Given the description of an element on the screen output the (x, y) to click on. 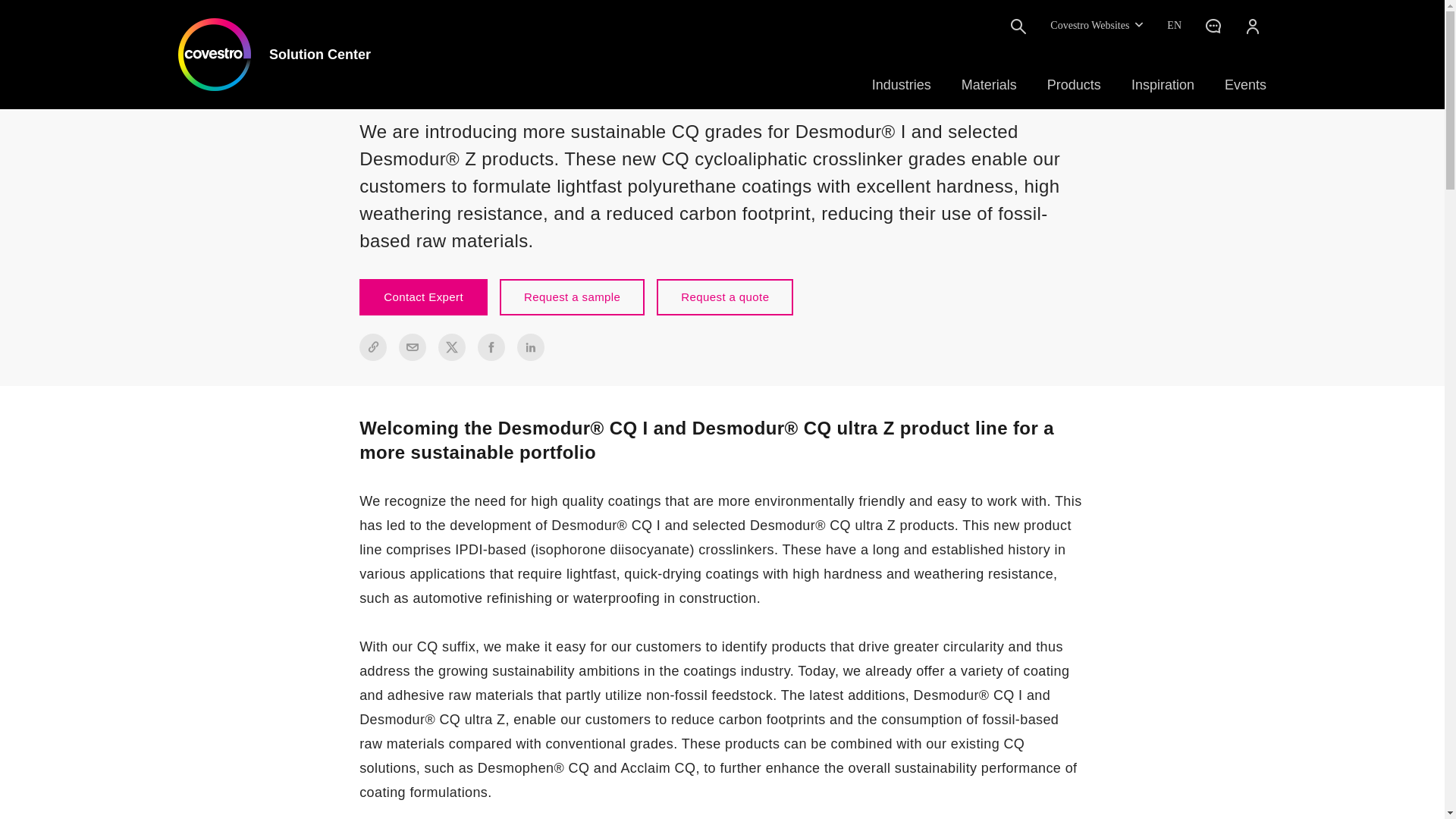
Industries (901, 85)
Materials (988, 85)
Products (1074, 85)
Solution Center (274, 54)
